Given the description of an element on the screen output the (x, y) to click on. 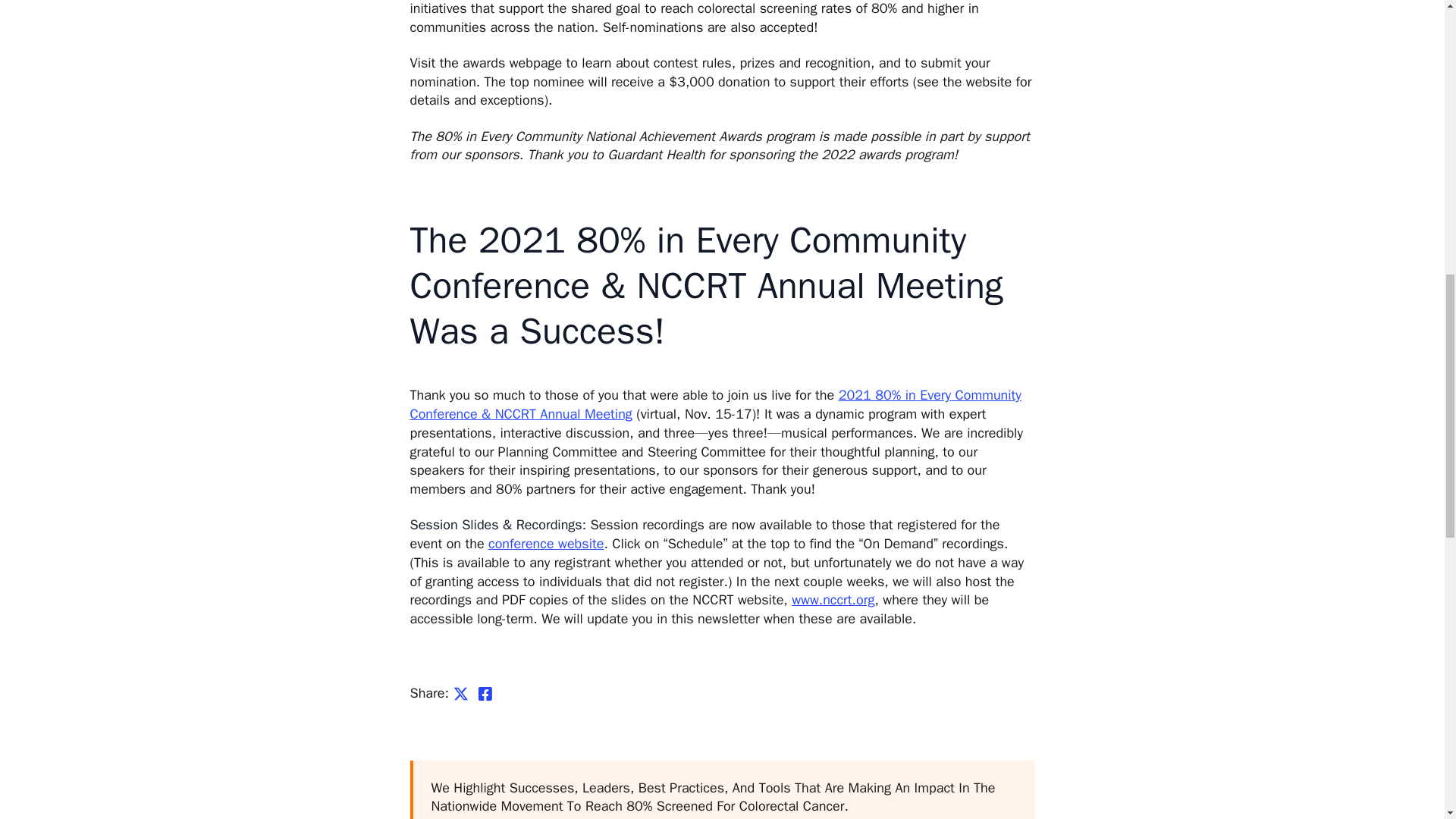
conference website (545, 543)
share post on X (460, 693)
www.nccrt.org (833, 599)
Share post on Facebook (485, 693)
